Given the description of an element on the screen output the (x, y) to click on. 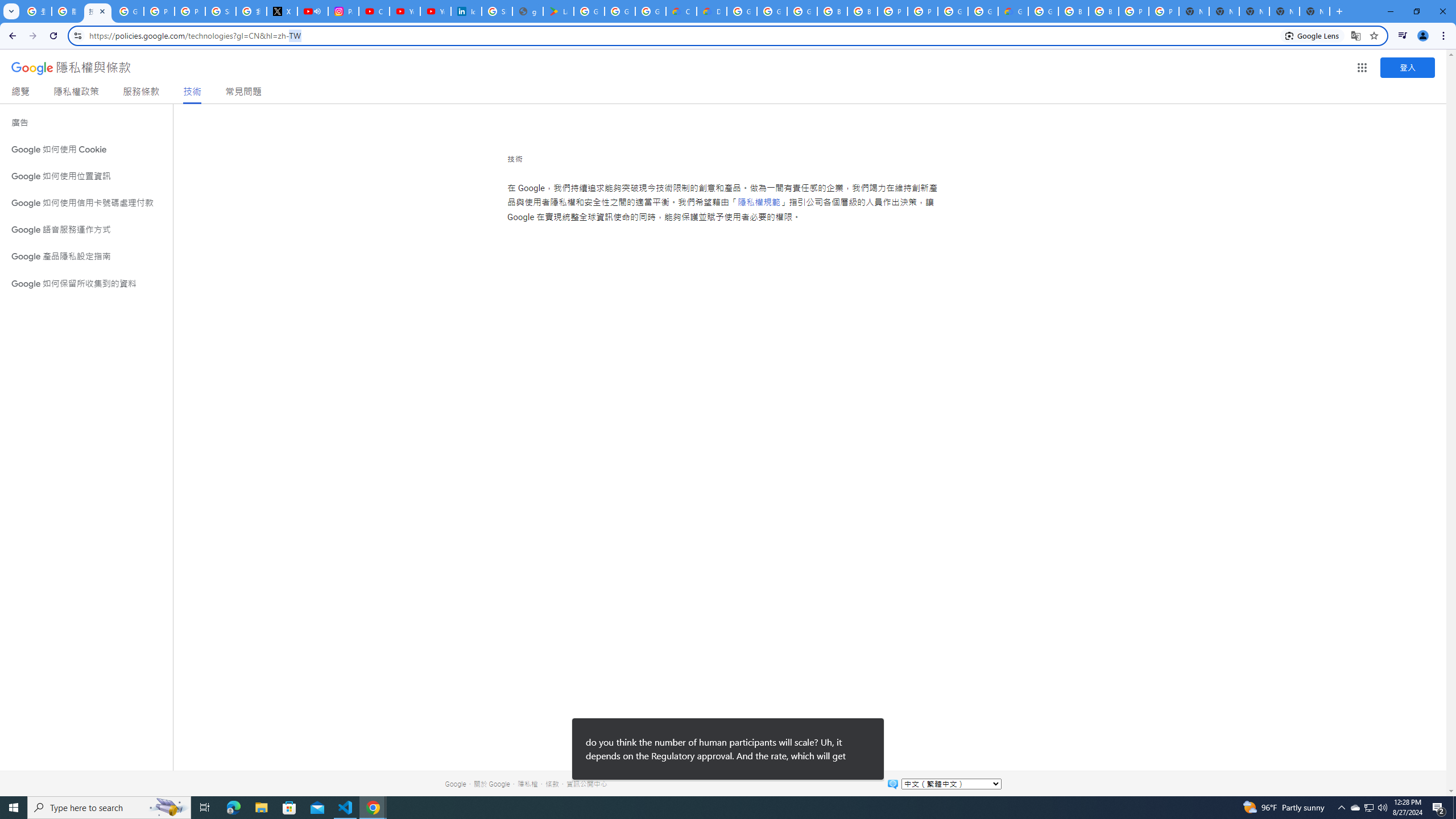
Search with Google Lens (1311, 35)
Google Cloud Platform (741, 11)
Google Cloud Platform (952, 11)
X (282, 11)
Browse Chrome as a guest - Computer - Google Chrome Help (1072, 11)
